Given the description of an element on the screen output the (x, y) to click on. 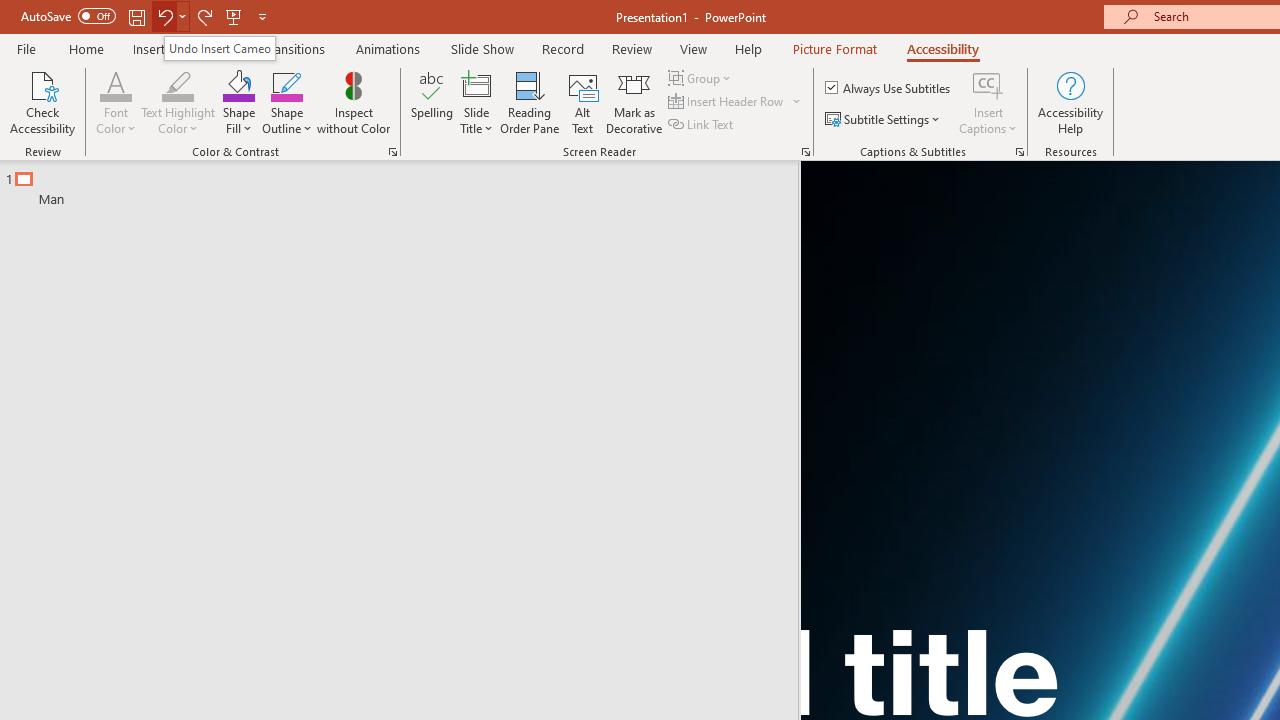
Picture Format (834, 48)
Slide Title (476, 102)
Subtitle Settings (884, 119)
Undo Insert Cameo (219, 48)
Always Use Subtitles (889, 87)
Insert Captions (988, 84)
